Given the description of an element on the screen output the (x, y) to click on. 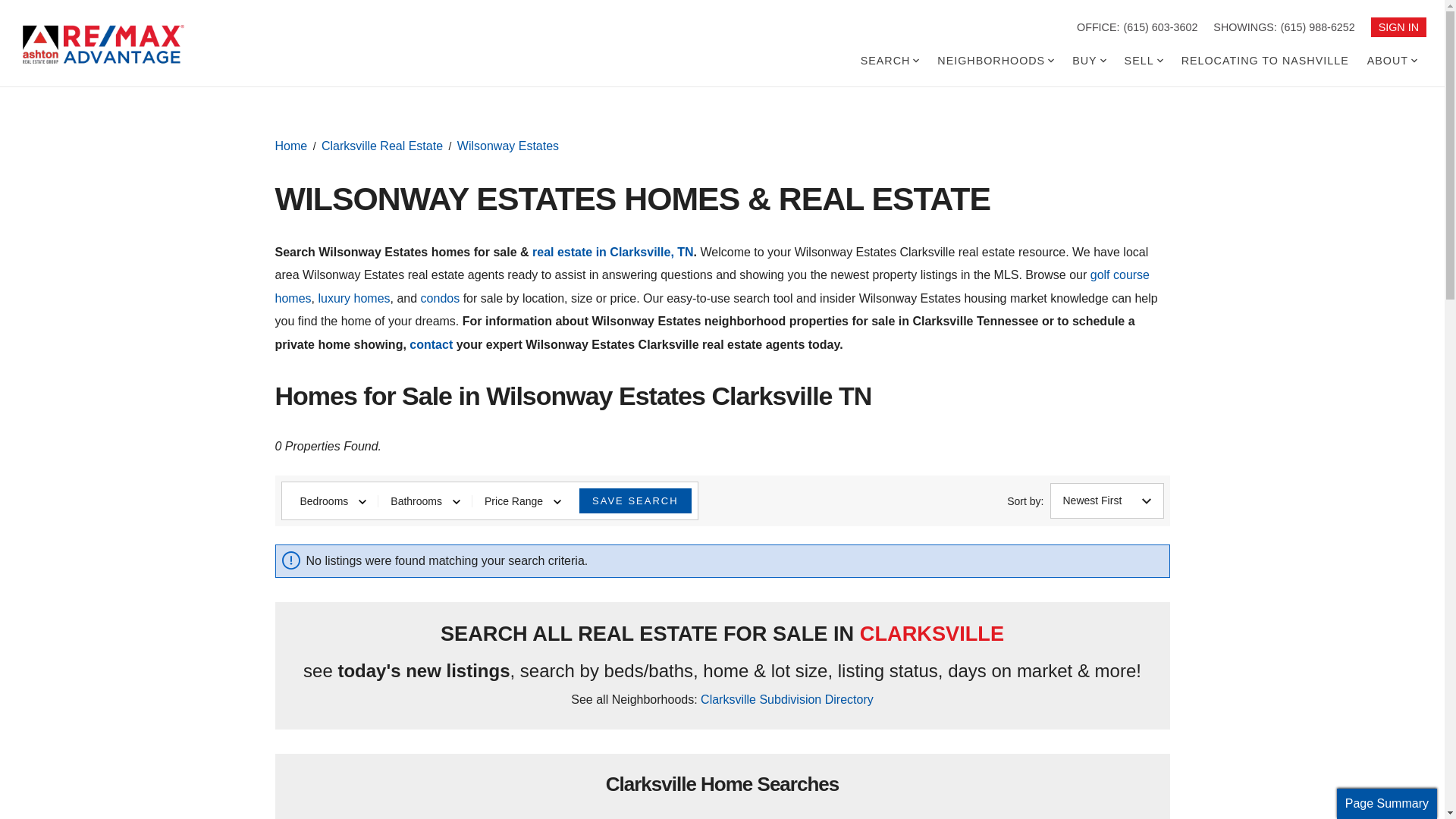
NEIGHBORHOODS (995, 60)
Page Summary (1386, 803)
SEARCH (889, 60)
SIGN IN (1398, 26)
